Given the description of an element on the screen output the (x, y) to click on. 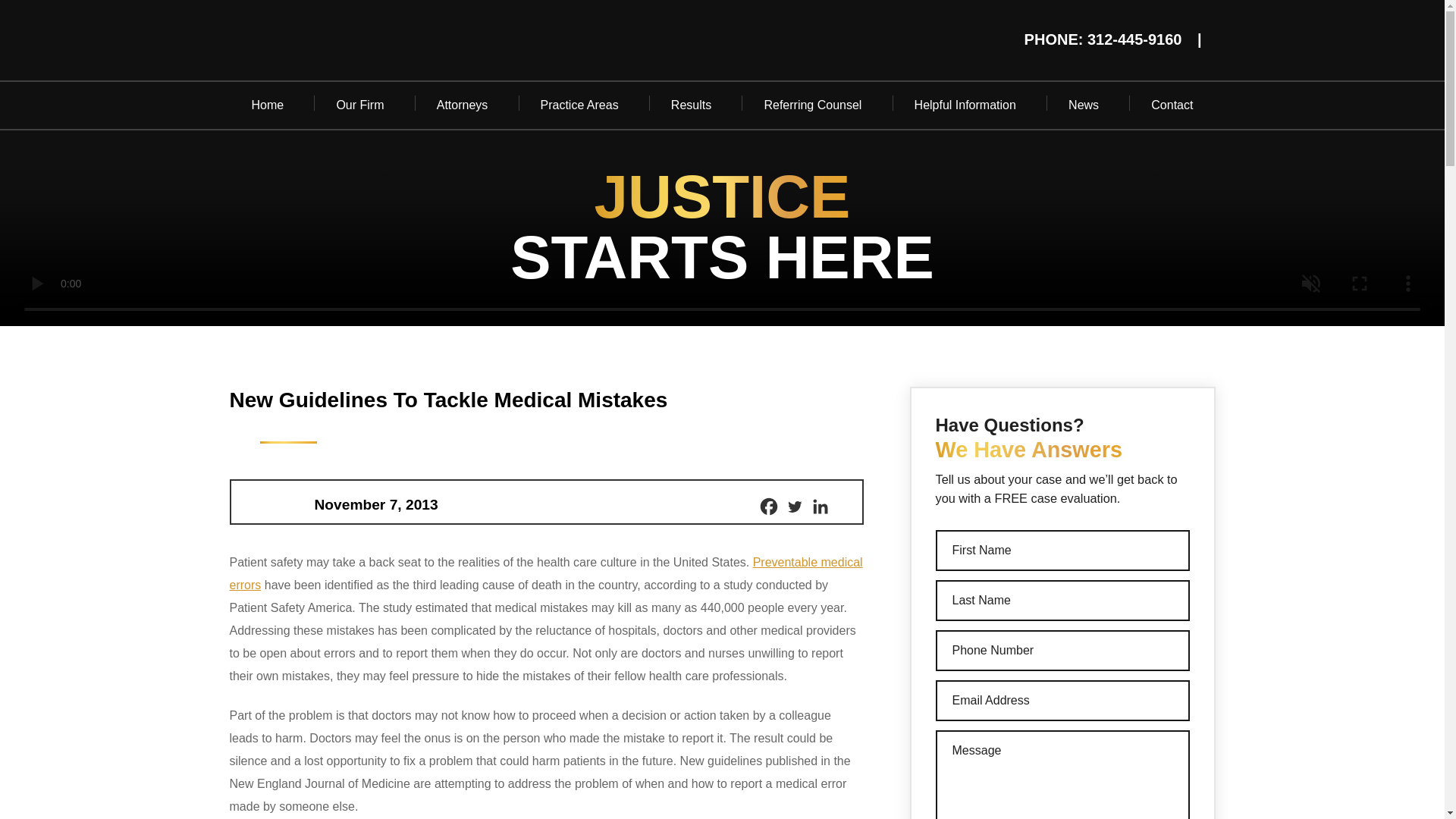
Home (266, 105)
Twitter (794, 506)
Preventable medical errors (544, 573)
Facebook (767, 506)
Attorneys (462, 105)
Referring Counsel (812, 105)
Results (691, 105)
Contact (1171, 105)
Practice Areas (579, 105)
News (1083, 105)
Our Firm (360, 105)
Helpful Information (965, 105)
Linkedin (819, 506)
312-445-9160 (1134, 39)
